Given the description of an element on the screen output the (x, y) to click on. 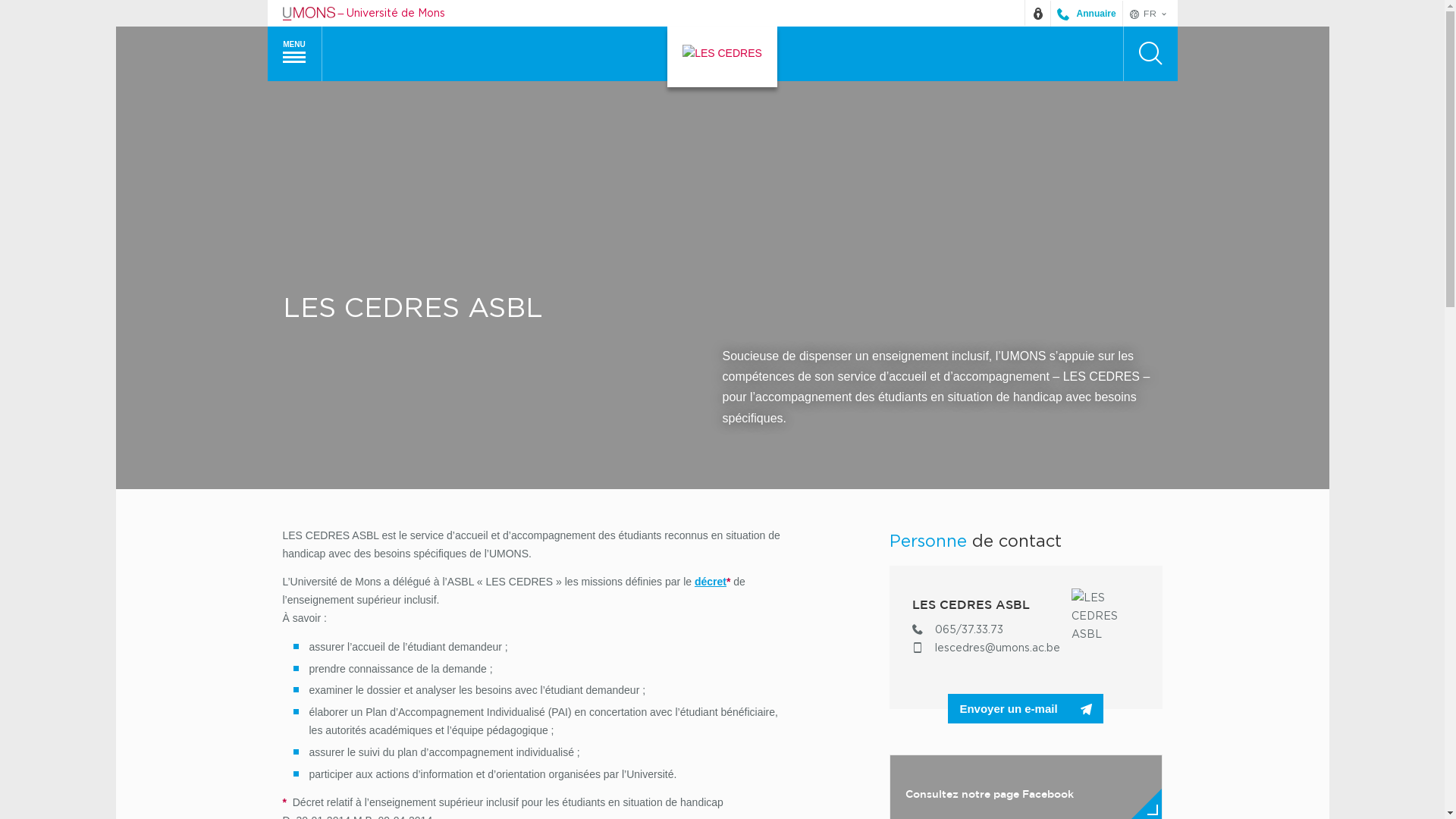
MENU Element type: text (293, 53)
FR Element type: text (1149, 13)
Annuaire Element type: text (1086, 13)
Envoyer un e-mail Element type: text (1024, 708)
